Given the description of an element on the screen output the (x, y) to click on. 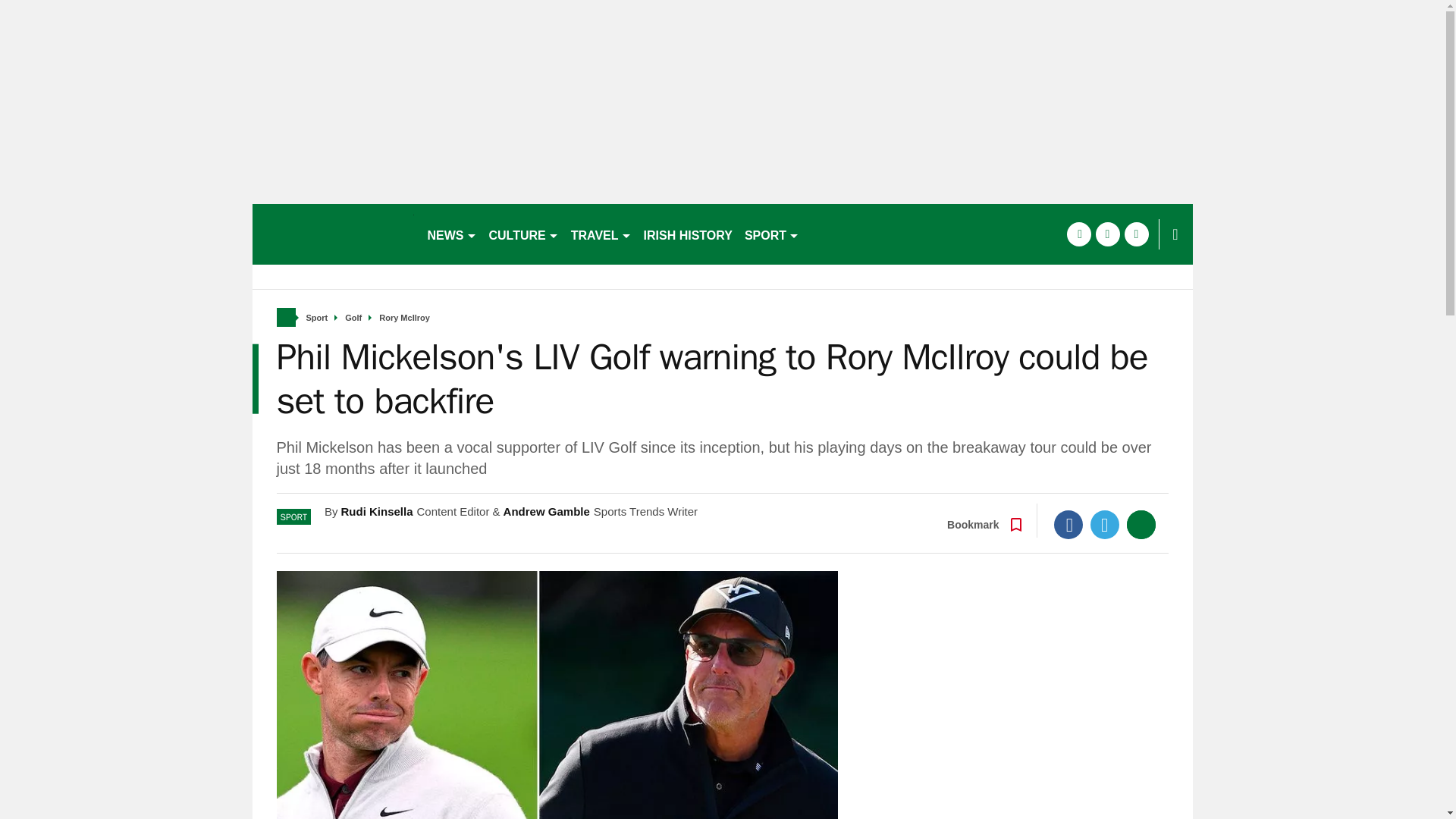
Facebook (1068, 524)
instagram (1136, 233)
twitter (1106, 233)
irishstar (332, 233)
facebook (1077, 233)
CULTURE (522, 233)
NEWS (452, 233)
Twitter (1104, 524)
TRAVEL (600, 233)
SPORT (771, 233)
